Given the description of an element on the screen output the (x, y) to click on. 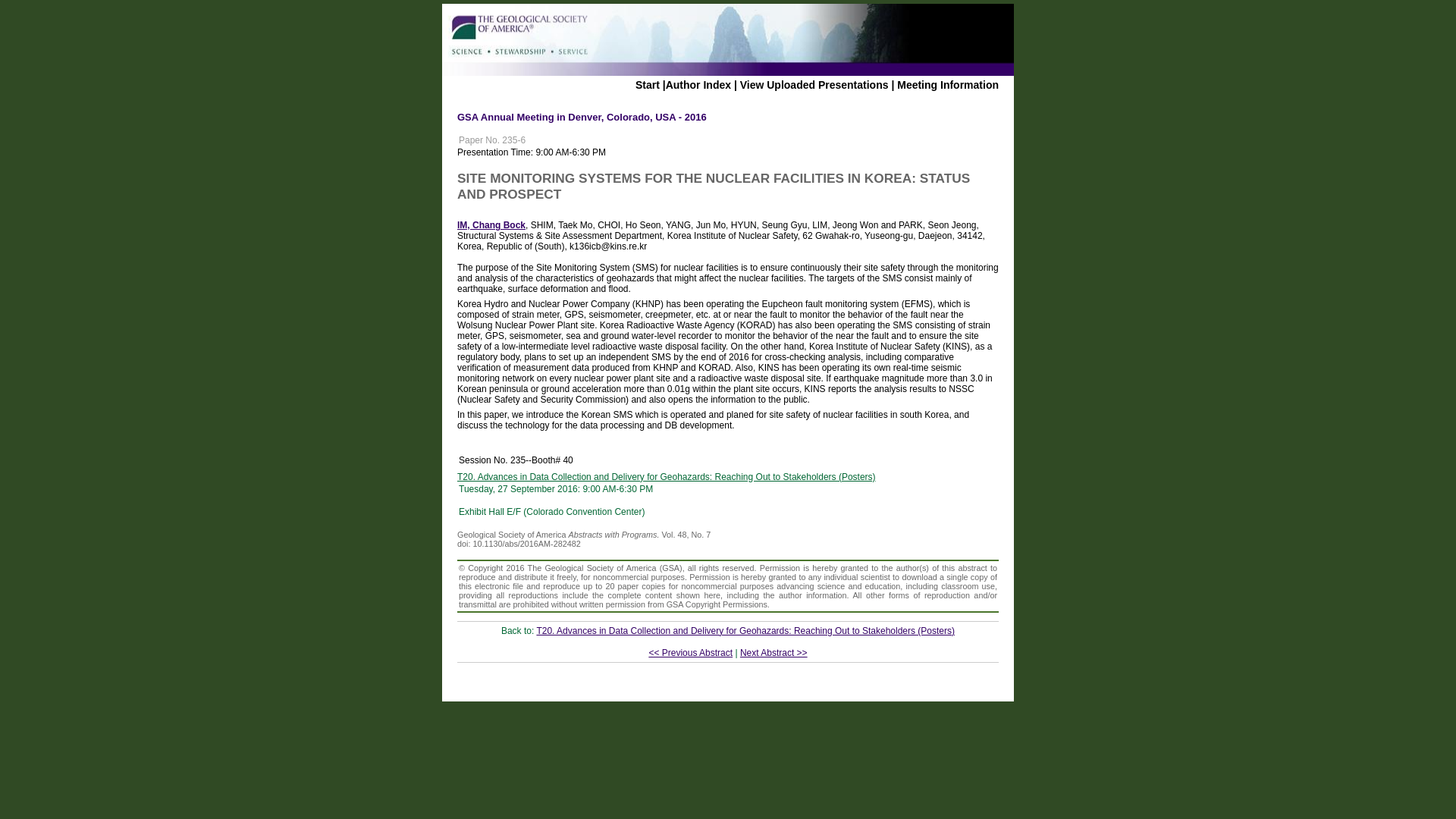
Start (646, 84)
Author Index (697, 84)
View Uploaded Presentations (813, 84)
Meeting Information (947, 84)
IM, Chang Bock (491, 225)
